Given the description of an element on the screen output the (x, y) to click on. 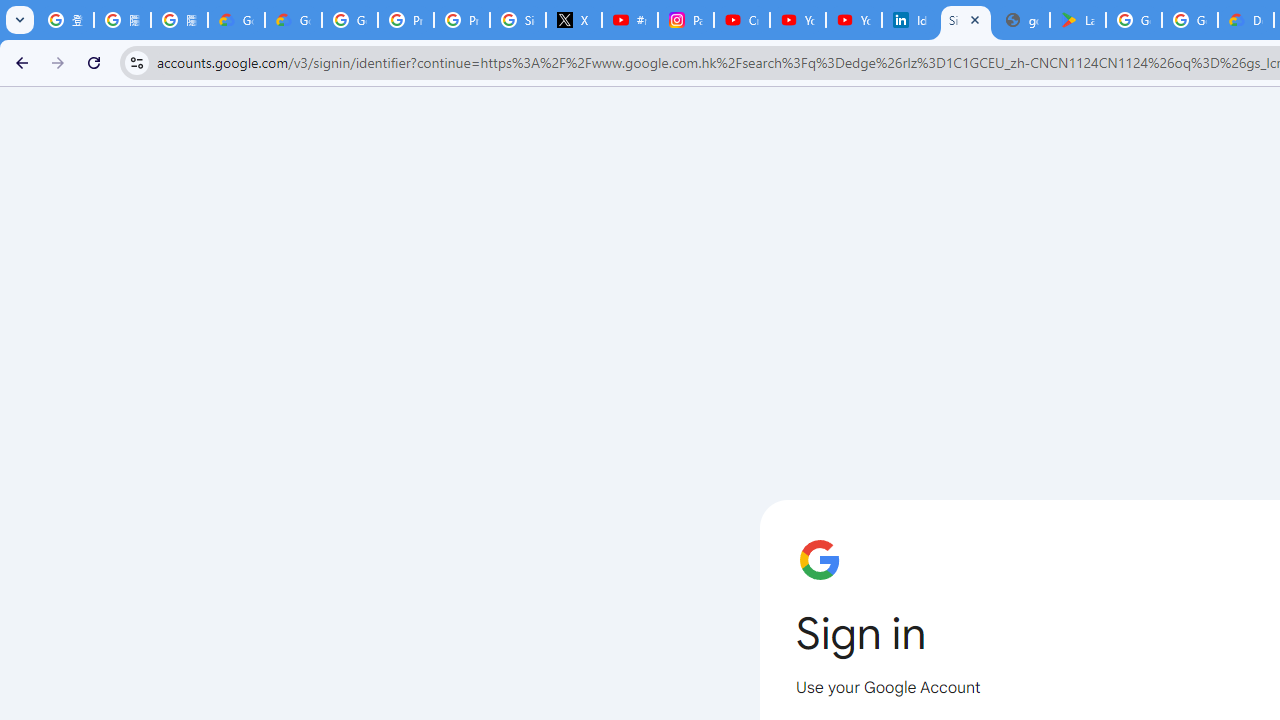
google_privacy_policy_en.pdf (1021, 20)
X (573, 20)
Google Cloud Privacy Notice (293, 20)
Last Shelter: Survival - Apps on Google Play (1077, 20)
Privacy Help Center - Policies Help (405, 20)
Sign in - Google Accounts (966, 20)
